Given the description of an element on the screen output the (x, y) to click on. 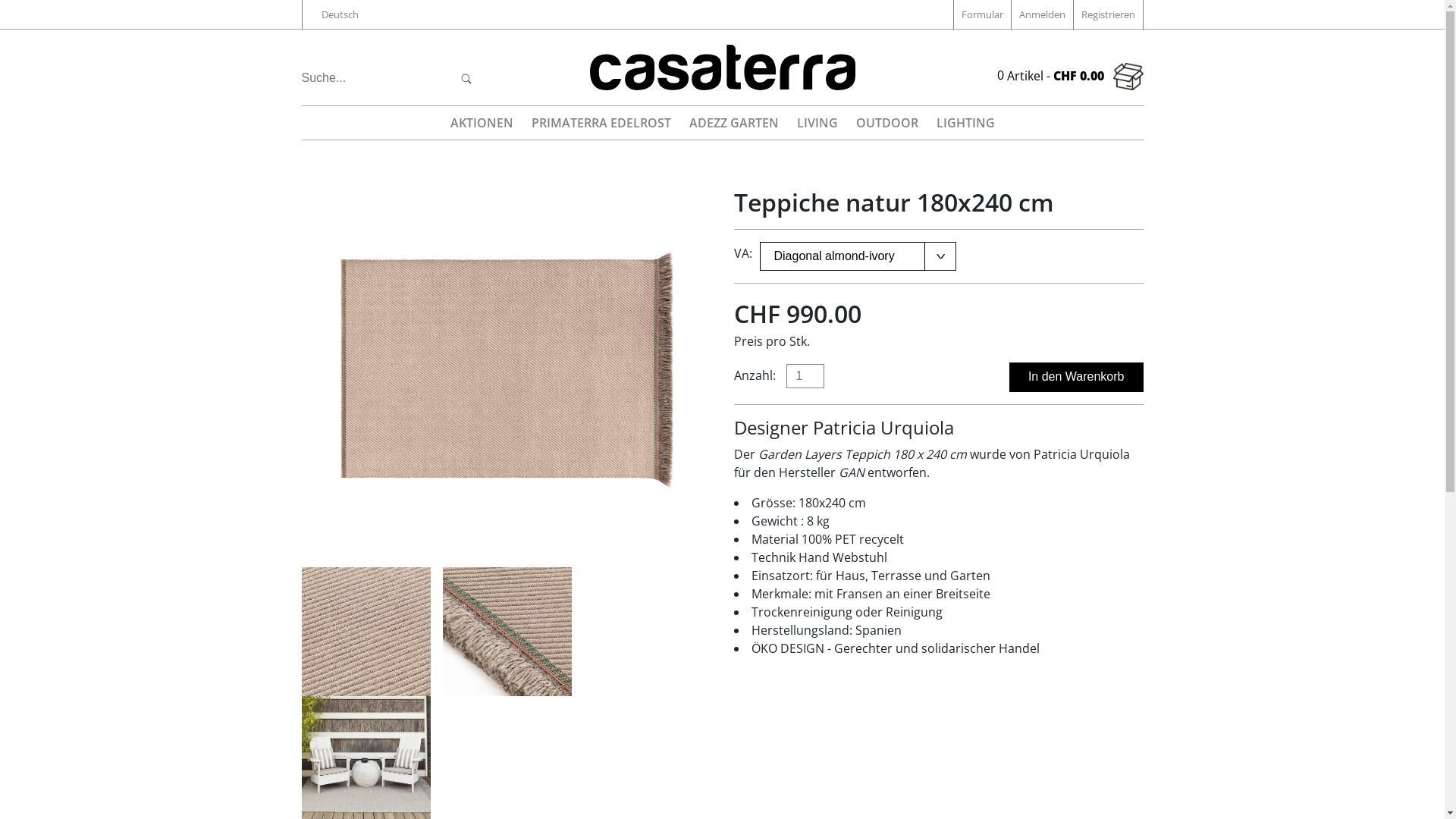
Teppiche natur 180x240 cm Element type: hover (506, 631)
Teppiche natur 180x240 cm Element type: hover (365, 631)
LIGHTING Element type: text (964, 122)
LIVING Element type: text (816, 122)
0 Artikel - CHF 0.00 Element type: text (1069, 76)
OUTDOOR Element type: text (886, 122)
Anmelden Element type: text (1041, 15)
AKTIONEN Element type: text (481, 122)
Registrieren Element type: text (1107, 15)
PRIMATERRA EDELROST Element type: text (600, 122)
Formular Element type: text (981, 15)
Search Element type: text (467, 77)
ADEZZ GARTEN Element type: text (732, 122)
Deutsch Element type: text (339, 15)
In den Warenkorb Element type: text (1076, 376)
